Given the description of an element on the screen output the (x, y) to click on. 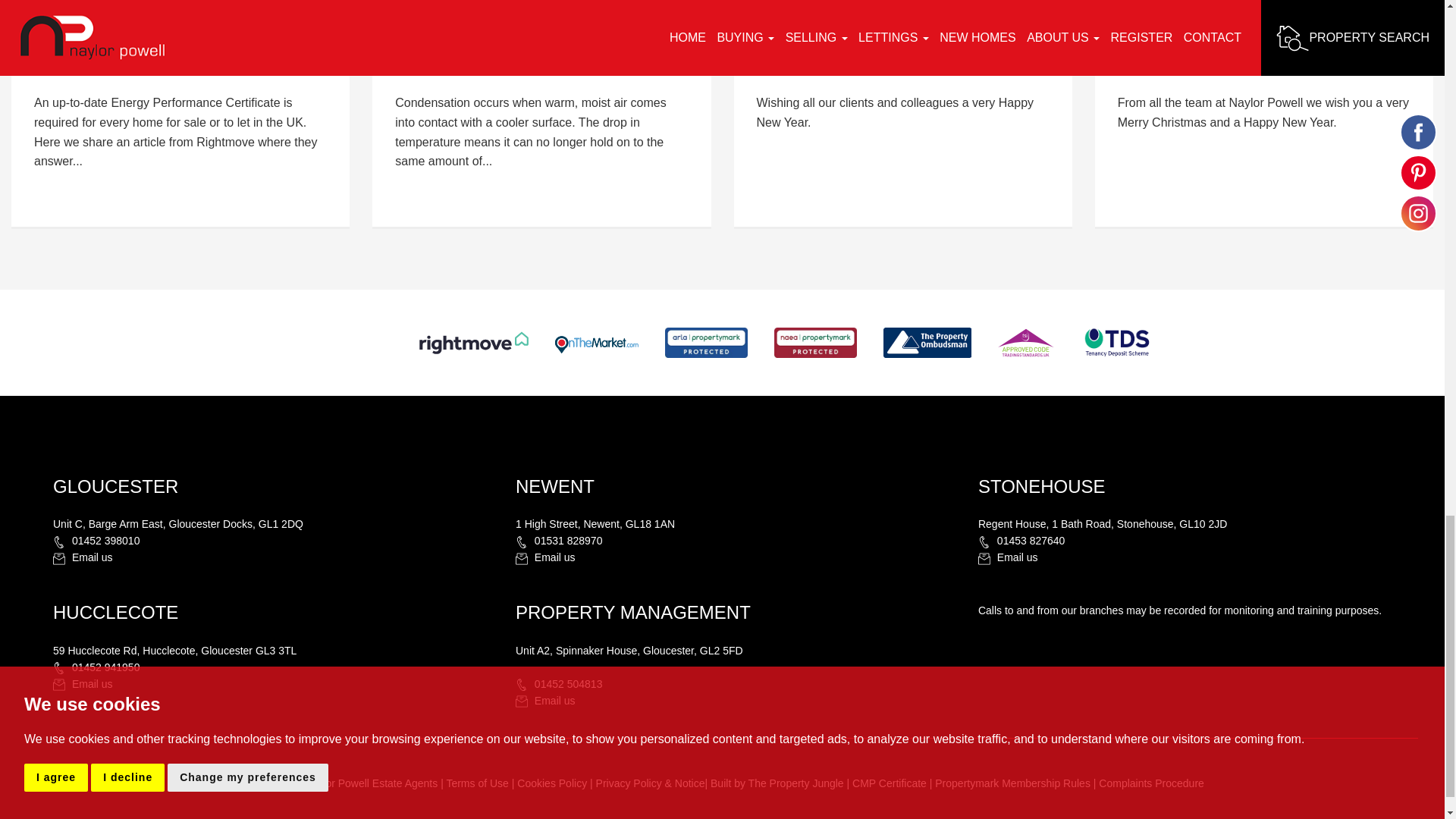
Website Built by The Property Jungle (777, 783)
